Given the description of an element on the screen output the (x, y) to click on. 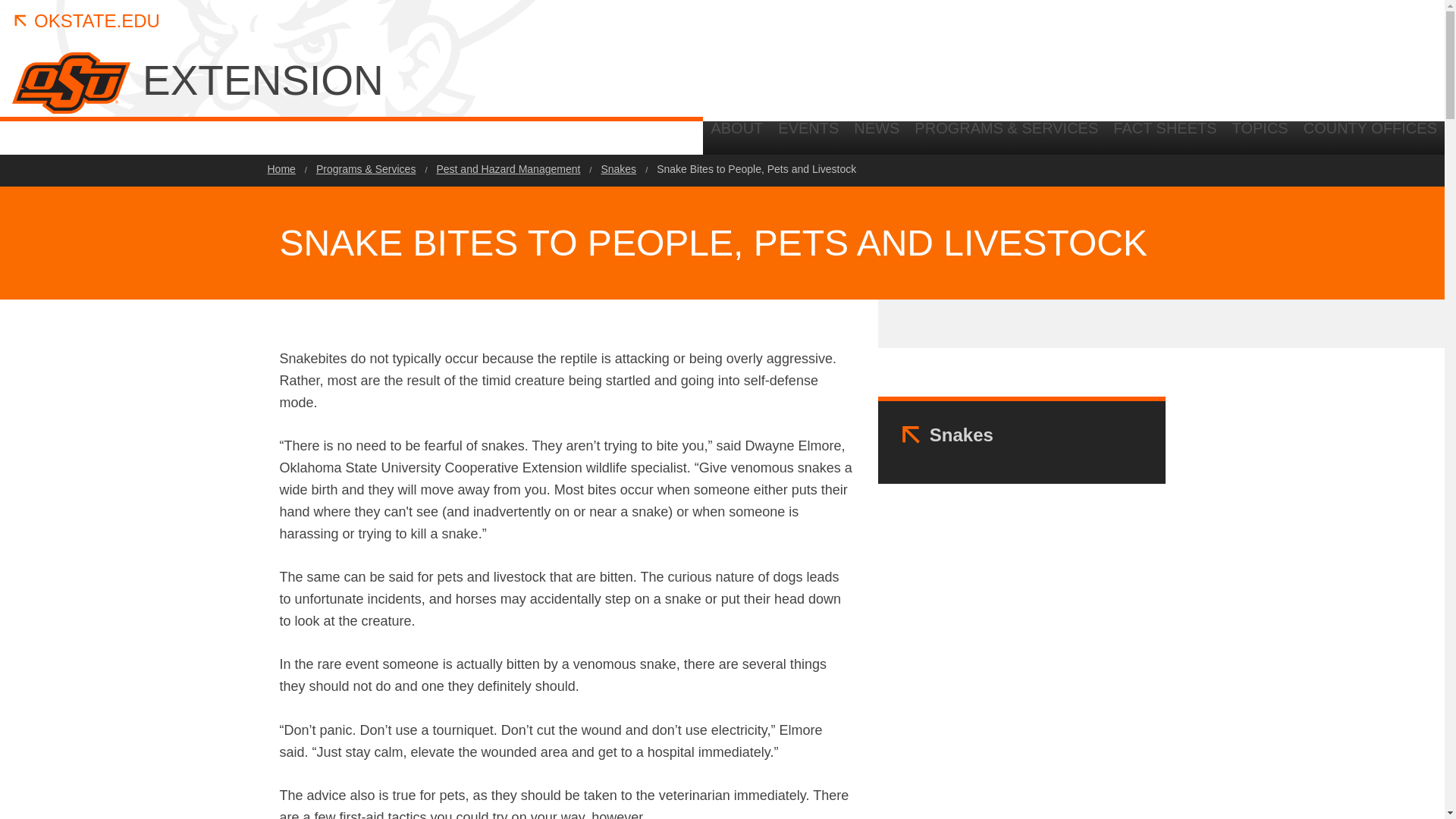
ABOUT (736, 133)
Snakes (961, 435)
Ag Research (1400, 137)
Home (280, 168)
Snake Bites to People, Pets and Livestock (756, 168)
FACT SHEETS (1164, 133)
EVENTS (807, 133)
OKSTATE.EDU (85, 21)
TOPICS (1259, 133)
NEWS (876, 133)
